Given the description of an element on the screen output the (x, y) to click on. 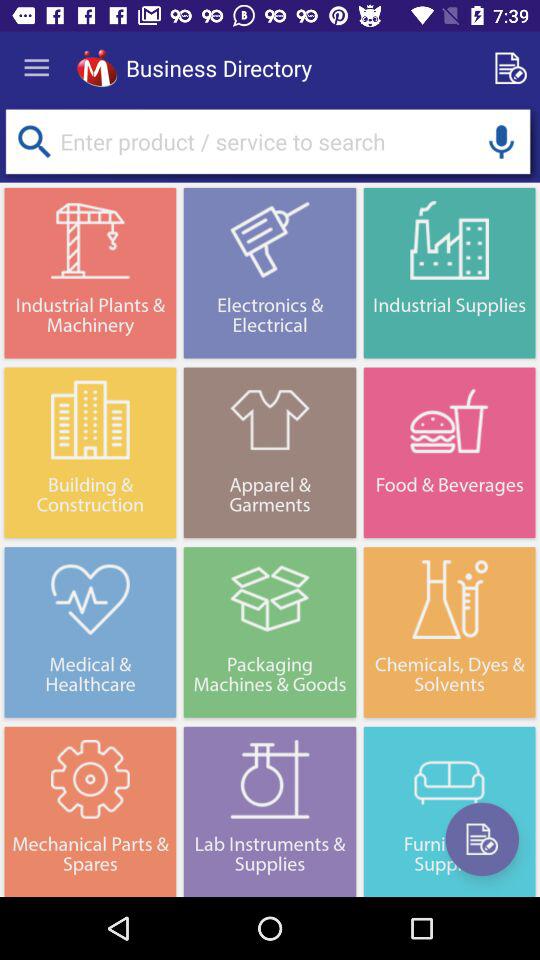
use microphone (501, 141)
